Given the description of an element on the screen output the (x, y) to click on. 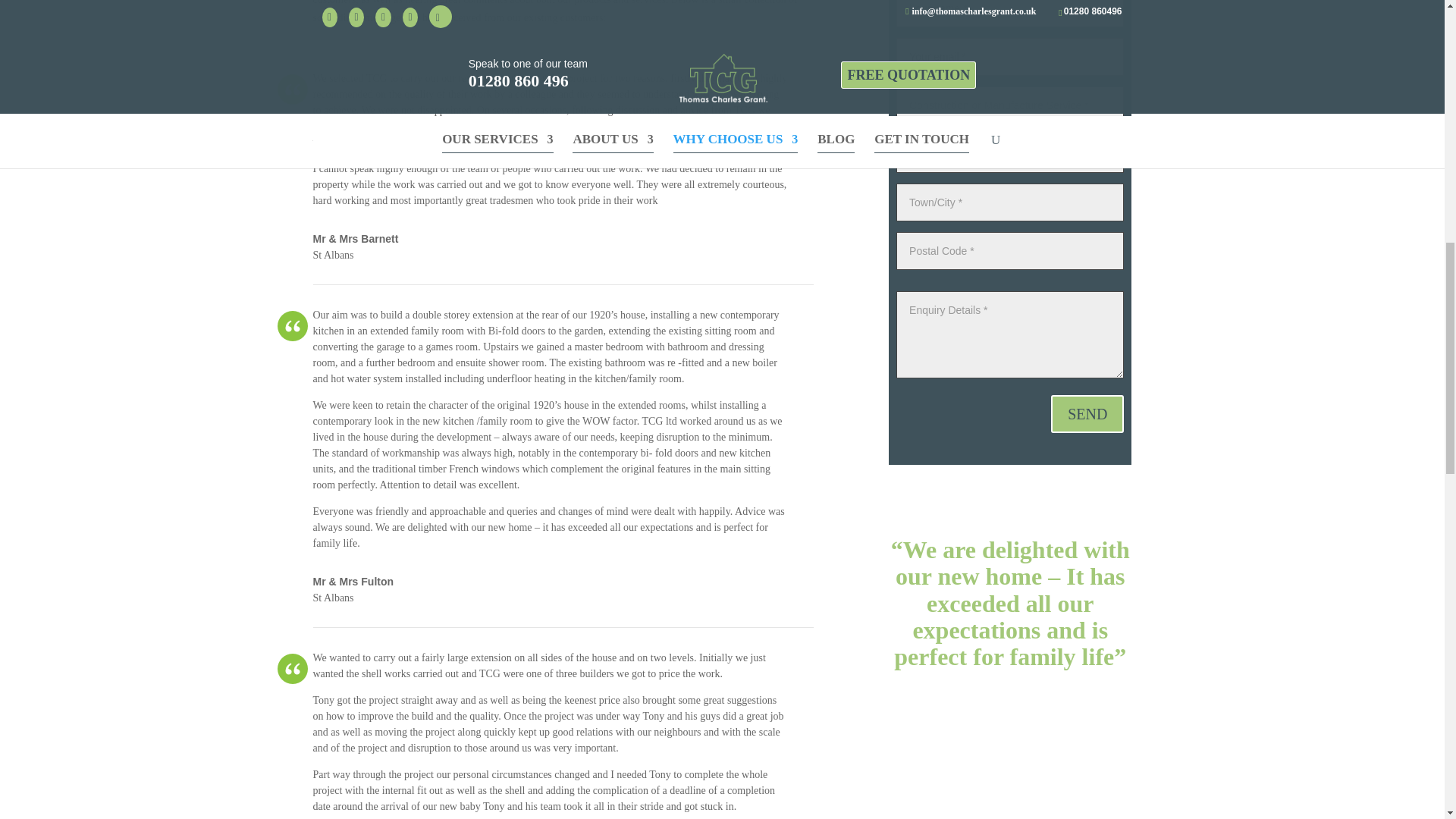
Send (1087, 413)
